Given the description of an element on the screen output the (x, y) to click on. 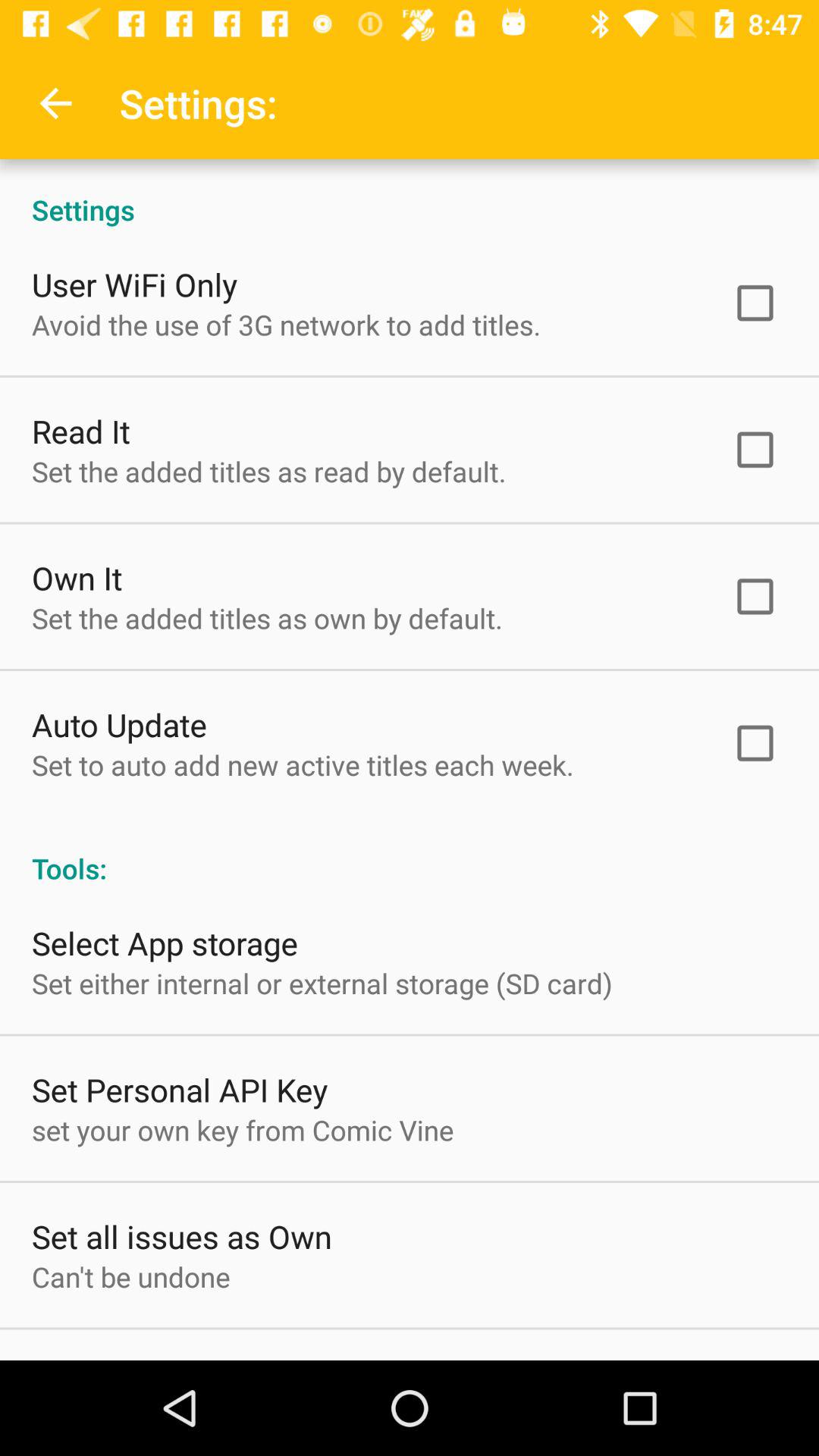
swipe until can t be item (130, 1276)
